Given the description of an element on the screen output the (x, y) to click on. 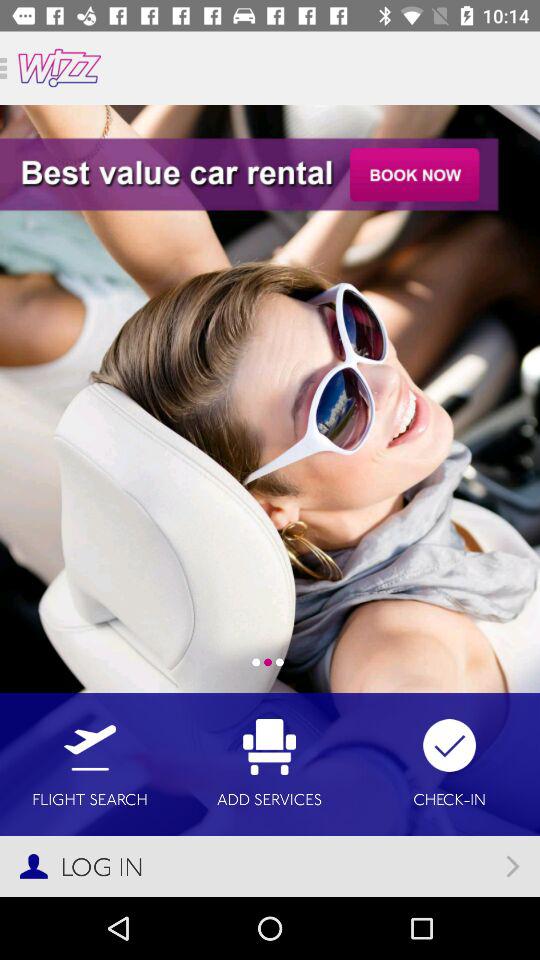
turn off icon to the right of the add services item (449, 764)
